Given the description of an element on the screen output the (x, y) to click on. 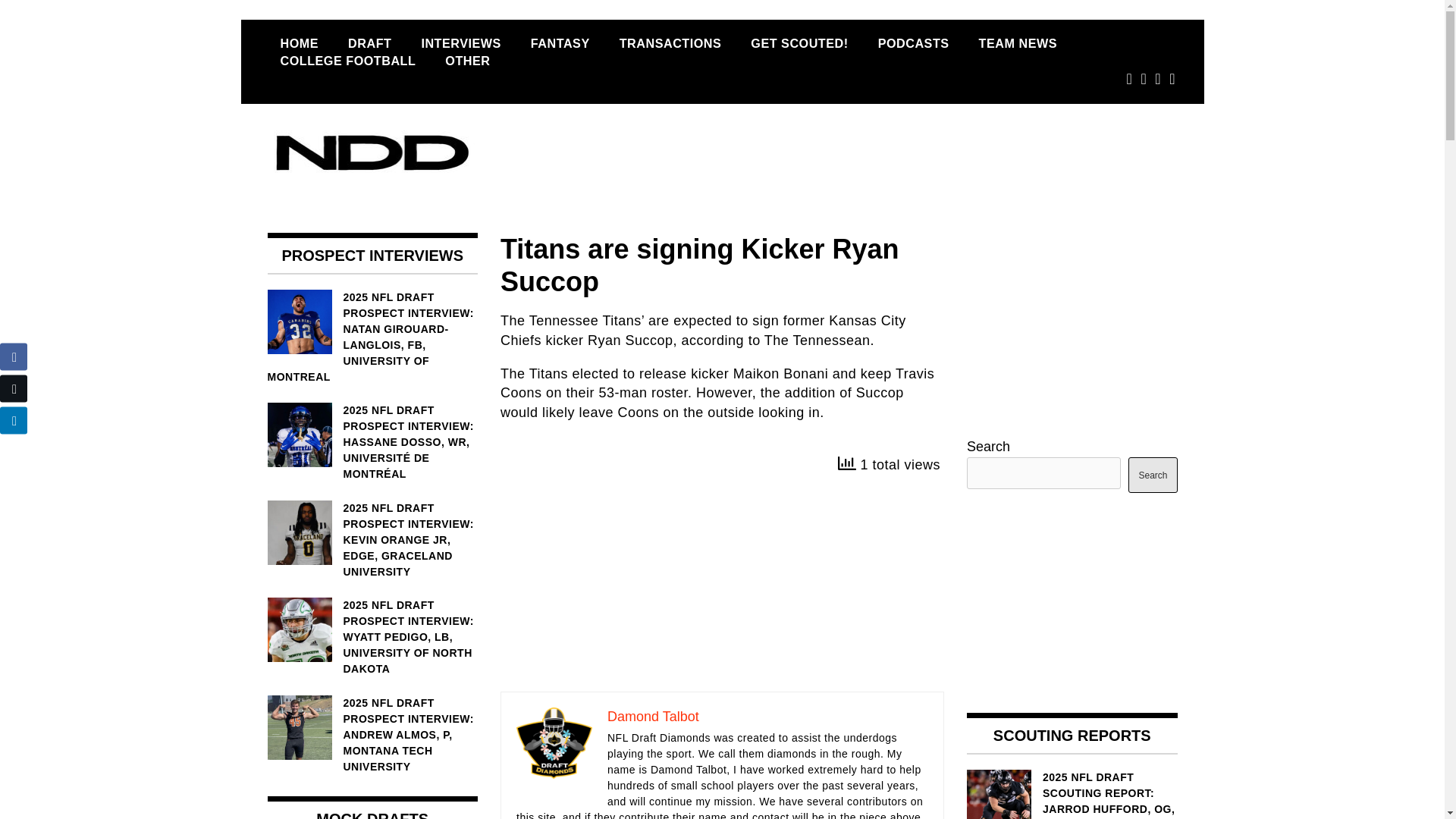
HOME (298, 42)
DRAFT (369, 42)
TRANSACTIONS (670, 42)
FANTASY (560, 42)
PODCASTS (913, 42)
GET SCOUTED! (799, 42)
INTERVIEWS (460, 42)
TEAM NEWS (1018, 42)
